Given the description of an element on the screen output the (x, y) to click on. 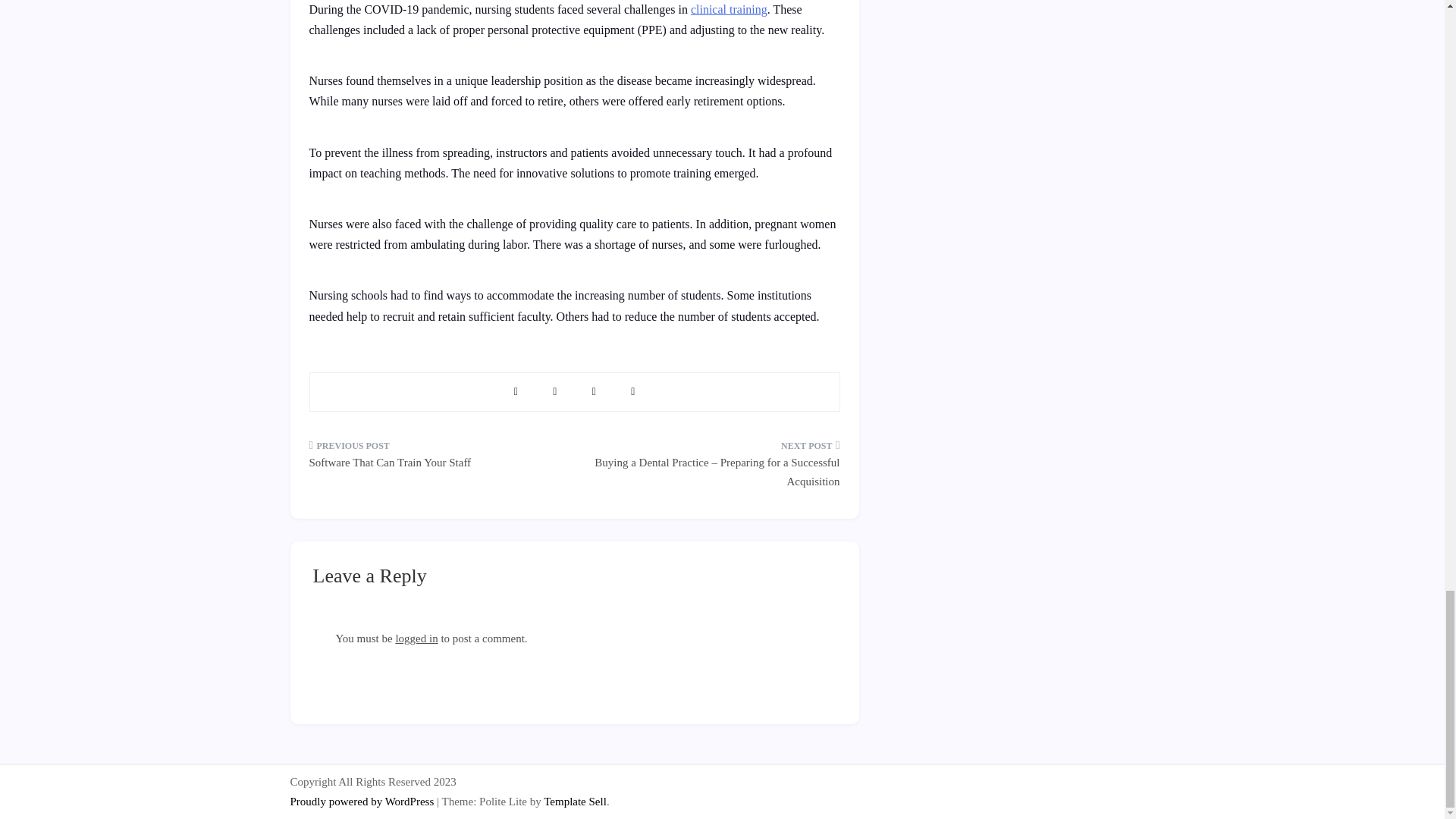
Template Sell (575, 801)
logged in (416, 638)
Software That Can Train Your Staff (435, 459)
clinical training (728, 9)
Proudly powered by WordPress (362, 801)
